Given the description of an element on the screen output the (x, y) to click on. 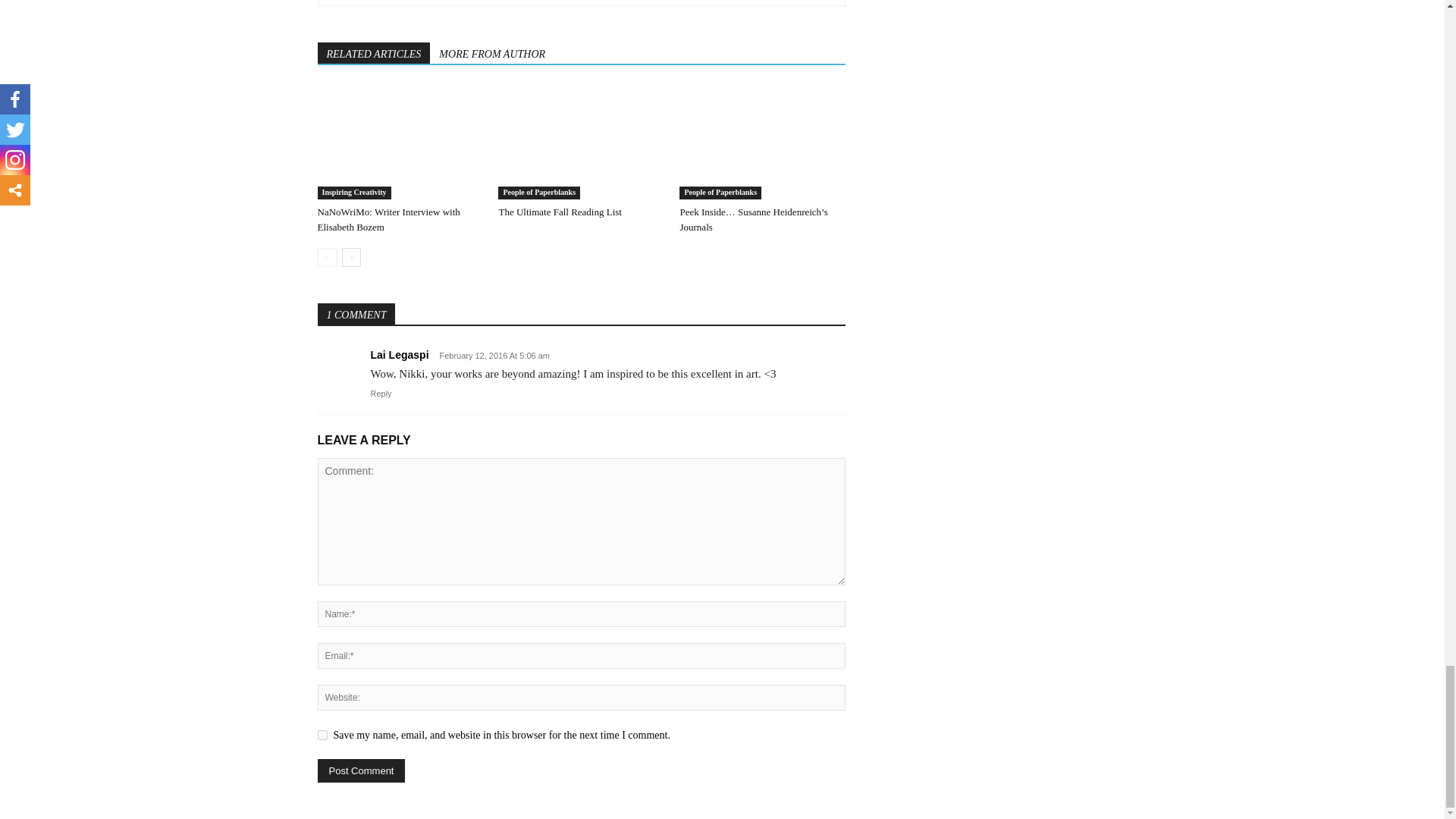
Post Comment (360, 770)
yes (321, 735)
